Given the description of an element on the screen output the (x, y) to click on. 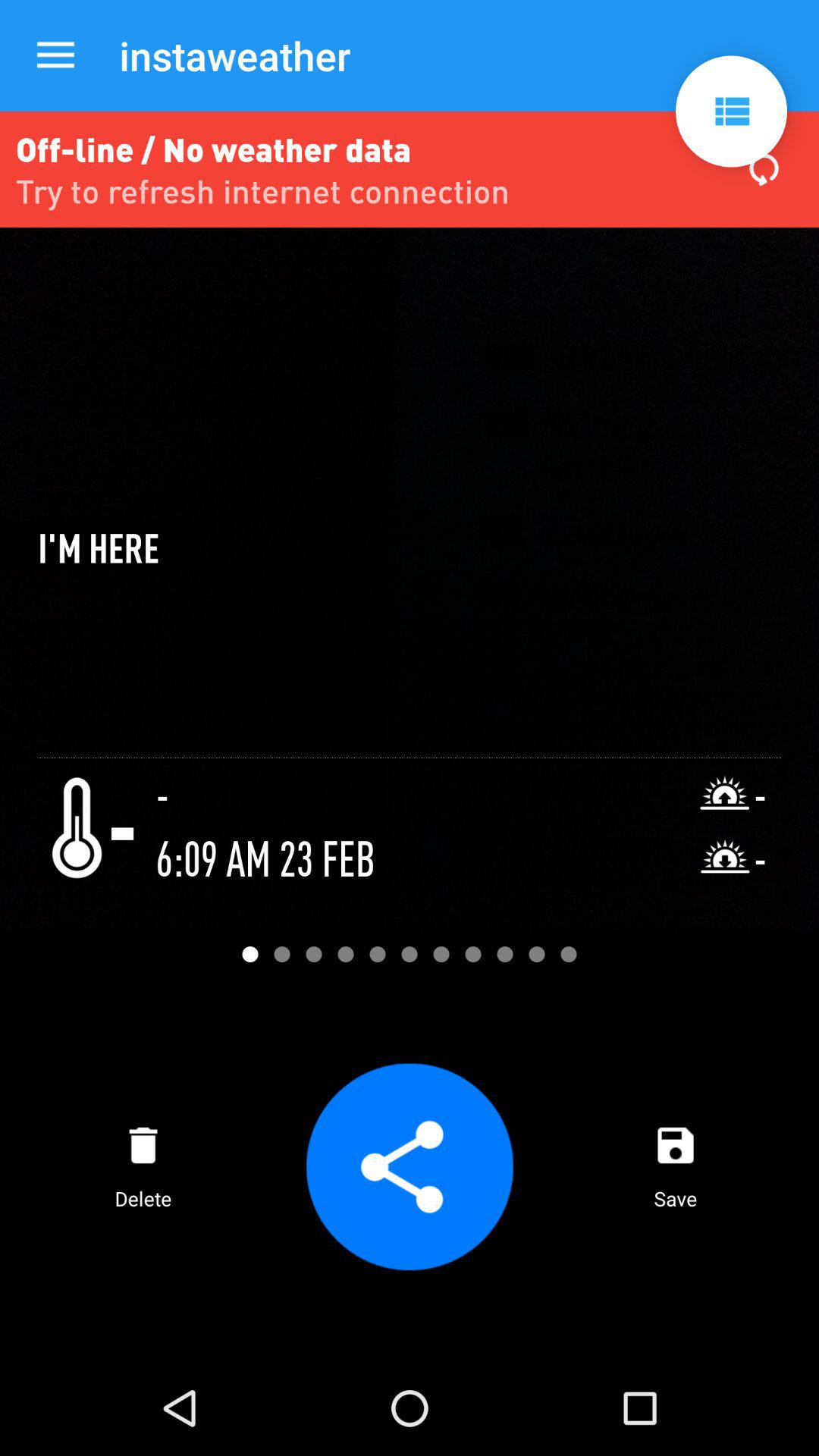
toggle autoplay oprinon (731, 111)
